Given the description of an element on the screen output the (x, y) to click on. 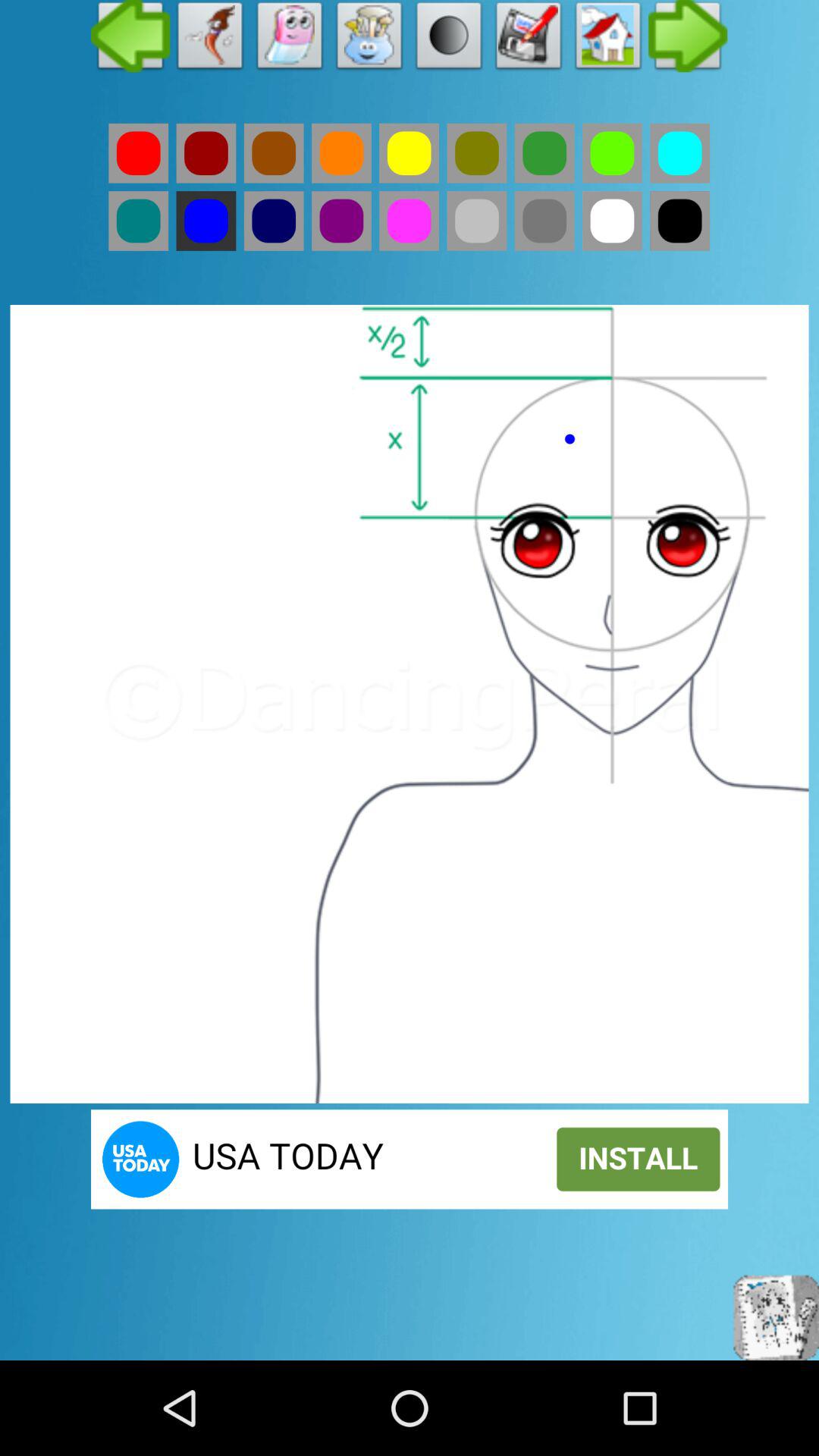
select the colour (679, 153)
